Given the description of an element on the screen output the (x, y) to click on. 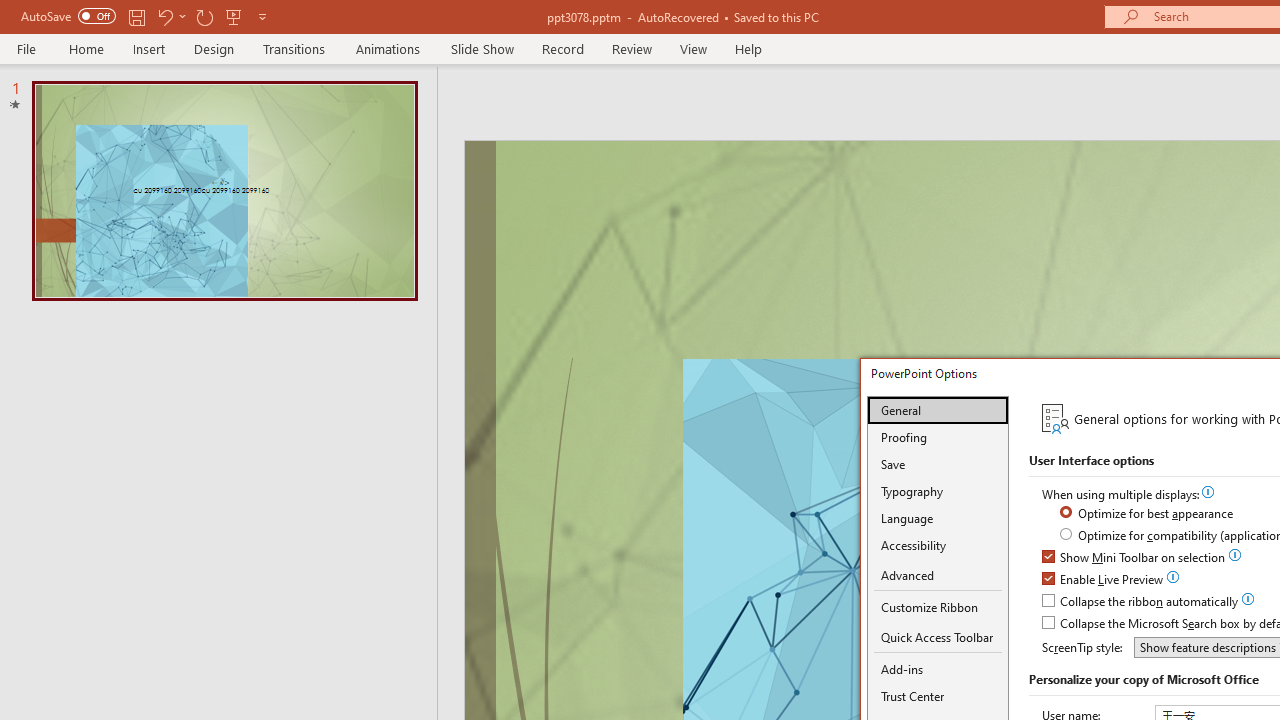
Accessibility (937, 545)
Advanced (937, 576)
Typography (937, 491)
Slide (224, 190)
Proofing (937, 437)
General (937, 410)
Collapse the ribbon automatically (1141, 602)
